Given the description of an element on the screen output the (x, y) to click on. 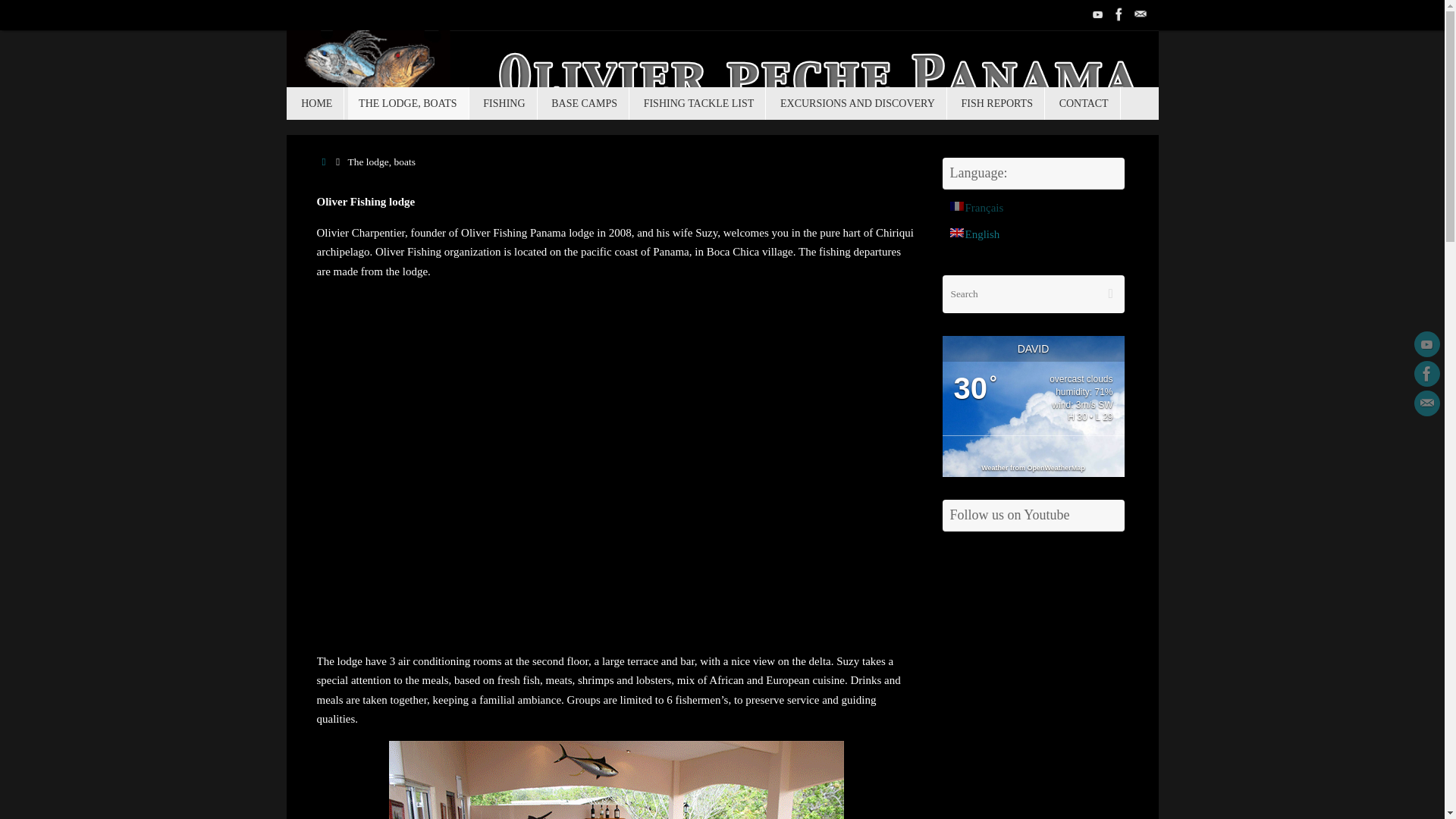
CONTACT (1083, 102)
FISHING (503, 102)
YouTube (1426, 344)
Mail (1426, 403)
Facebook (1118, 14)
English (973, 234)
FISHING TACKLE LIST (699, 102)
FISH REPORTS (996, 102)
THE LODGE, BOATS (407, 102)
BASE CAMPS (584, 102)
